Given the description of an element on the screen output the (x, y) to click on. 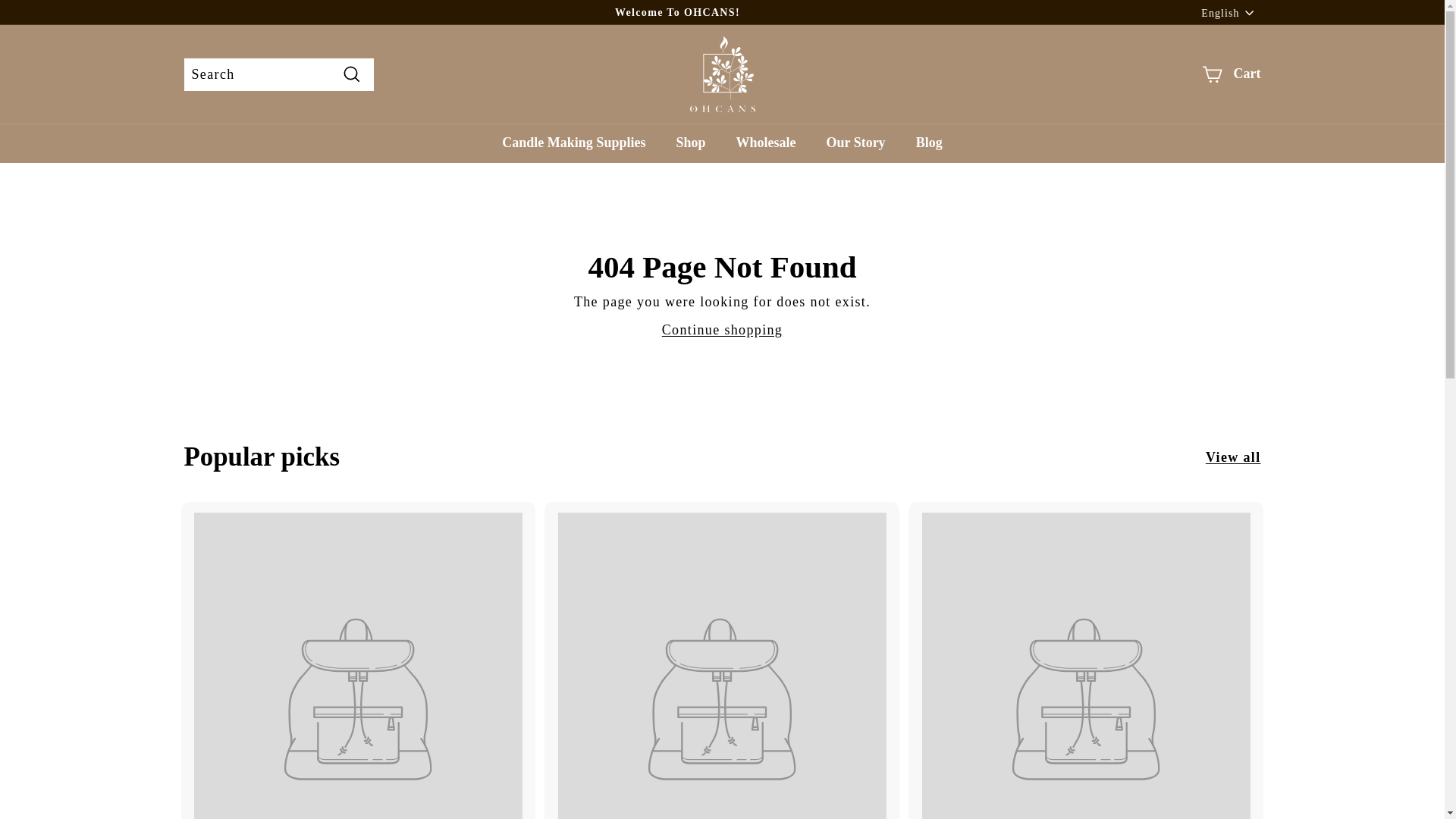
Blog (929, 142)
Wholesale (765, 142)
English (1230, 12)
Shop (690, 142)
Our Story (854, 142)
Candle Making Supplies (573, 142)
